Given the description of an element on the screen output the (x, y) to click on. 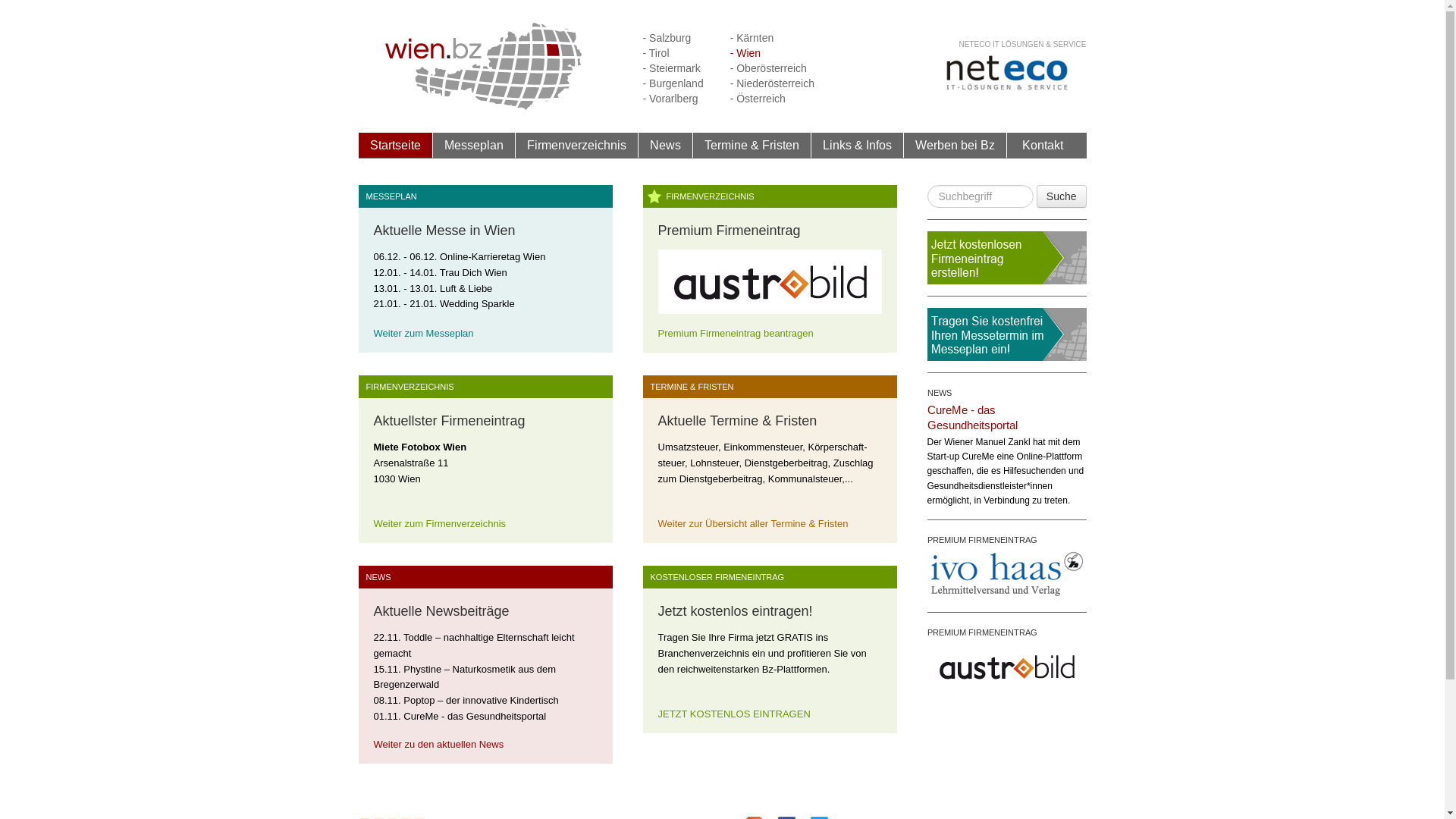
Weiter zu den aktuellen News Element type: text (438, 743)
Firmenverzeichnis Element type: text (576, 144)
JETZT KOSTENLOS EINTRAGEN Element type: text (734, 713)
- Salzburg Element type: text (667, 37)
Termine & Fristen Element type: text (752, 144)
Bundesland.bz - Firmeneintrag gratis Element type: hover (1005, 257)
Online-Karrieretag Wien Element type: text (492, 262)
Kontakt Element type: text (1042, 144)
Luft & Liebe Element type: text (465, 293)
MESSEPLAN Element type: text (386, 195)
NEWS Element type: text (938, 392)
Termine & Fristen Element type: text (750, 144)
CureMe - das Gesundheitsportal Element type: text (474, 721)
Startseite Element type: text (394, 144)
NEWS Element type: text (373, 576)
CureMe - das Gesundheitsportal Element type: text (971, 417)
Weiter zum Messeplan Element type: text (423, 332)
- Burgenland Element type: text (673, 83)
Suche Element type: text (1061, 196)
Links & Infos Element type: text (856, 144)
Zur Startseite von Stadt Wien.bz Element type: hover (483, 65)
News Element type: text (664, 144)
PREMIUM FIRMENEINTRAG Element type: text (981, 632)
Messeplan Element type: text (473, 144)
Startseite Element type: text (395, 144)
Wedding Sparkle Element type: text (476, 309)
- Vorarlberg Element type: text (670, 98)
PREMIUM FIRMENEINTRAG Element type: text (981, 539)
Premium Firmeneintrag beantragen Element type: text (735, 332)
AustroBild.at -  Element type: hover (769, 286)
- Tirol Element type: text (656, 53)
FIRMENVERZEICHNIS Element type: text (405, 386)
Bundesland.bz - Messeeintrag gratis Element type: hover (1005, 333)
Werben bei Bz Element type: text (954, 144)
Trau Dich Wien Element type: text (473, 277)
Kontakt Element type: text (1042, 144)
KOSTENLOSER FIRMENEINTRAG Element type: text (713, 576)
FIRMENVERZEICHNIS Element type: text (705, 195)
Messeplan Element type: text (473, 144)
Firmenverzeichnis Element type: text (575, 144)
Weiter zum Firmenverzeichnis Element type: text (439, 523)
News Element type: text (665, 144)
TERMINE & FRISTEN Element type: text (688, 386)
Zum Premium-Firmeneintrag von AustroBild.at Element type: hover (1005, 665)
Links & Infos Element type: text (857, 144)
- Steiermark Element type: text (671, 68)
Werben bei Bz Element type: text (955, 144)
- Wien Element type: text (745, 53)
